Given the description of an element on the screen output the (x, y) to click on. 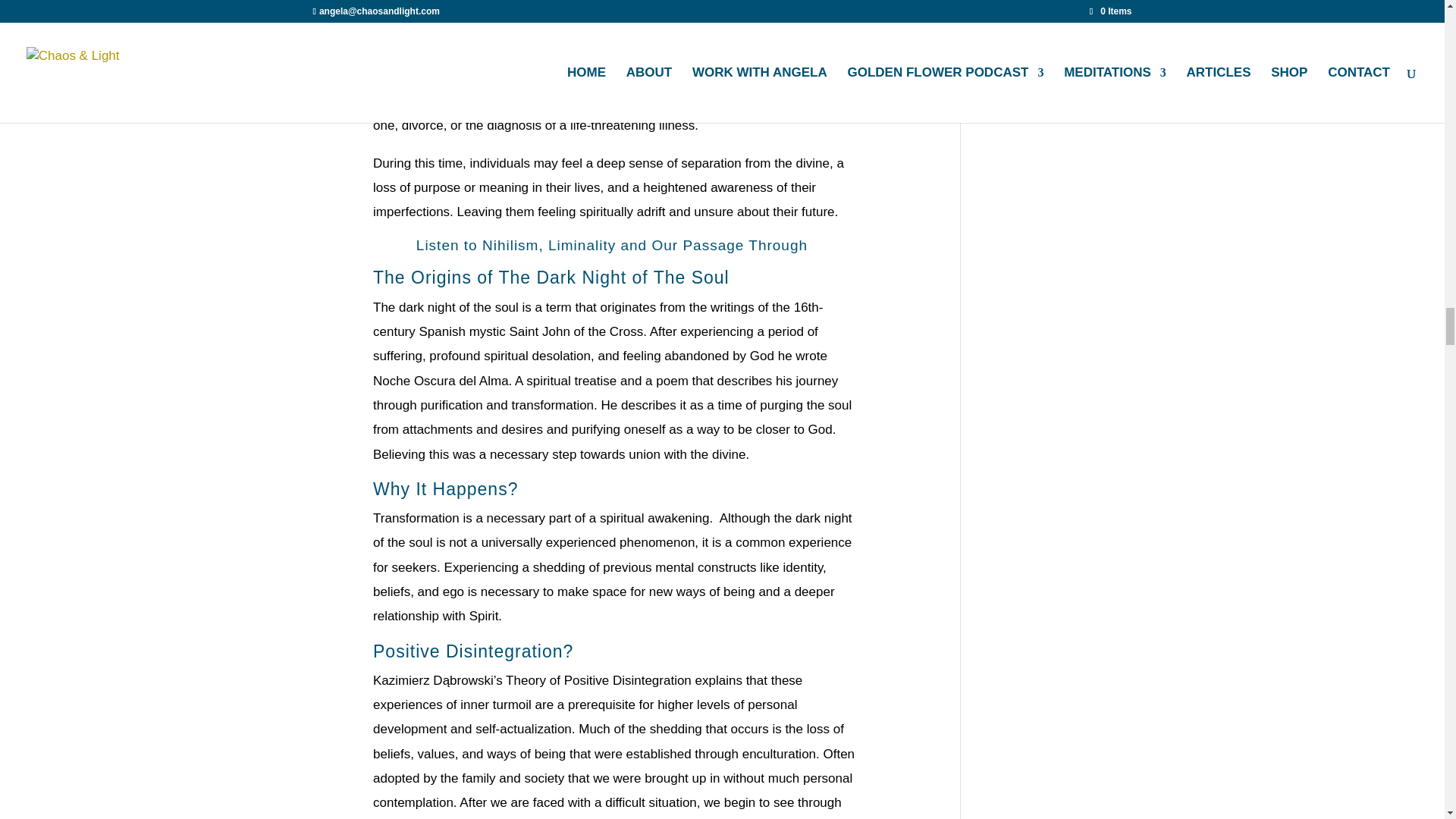
Nihilism, Liminality and Our Passage Through  (646, 245)
